Given the description of an element on the screen output the (x, y) to click on. 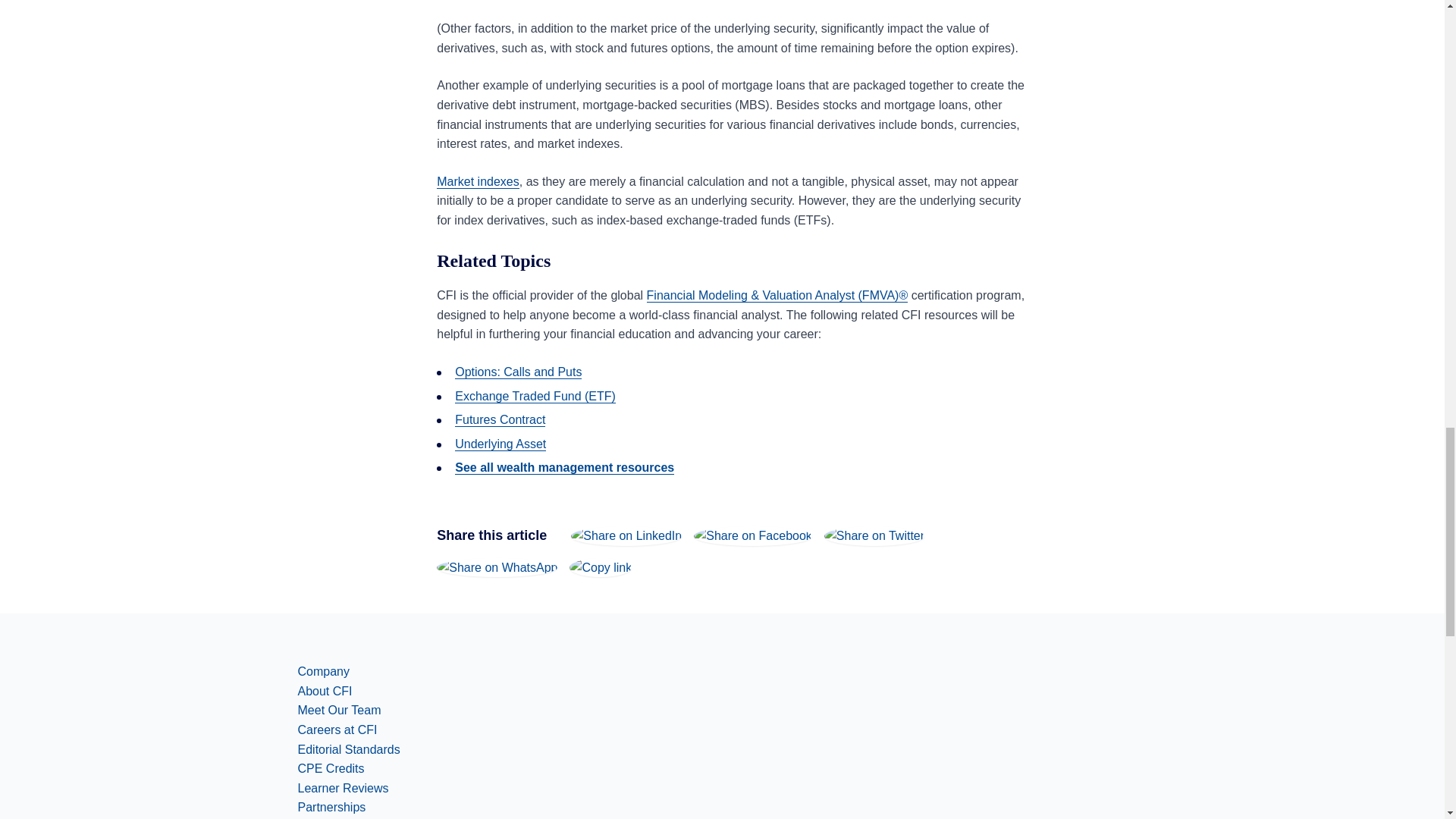
Share on WhatsApp (496, 567)
Share on Facebook (753, 535)
Share on Twitter (874, 535)
Copy link (600, 567)
Share on LinkedIn (625, 535)
